Given the description of an element on the screen output the (x, y) to click on. 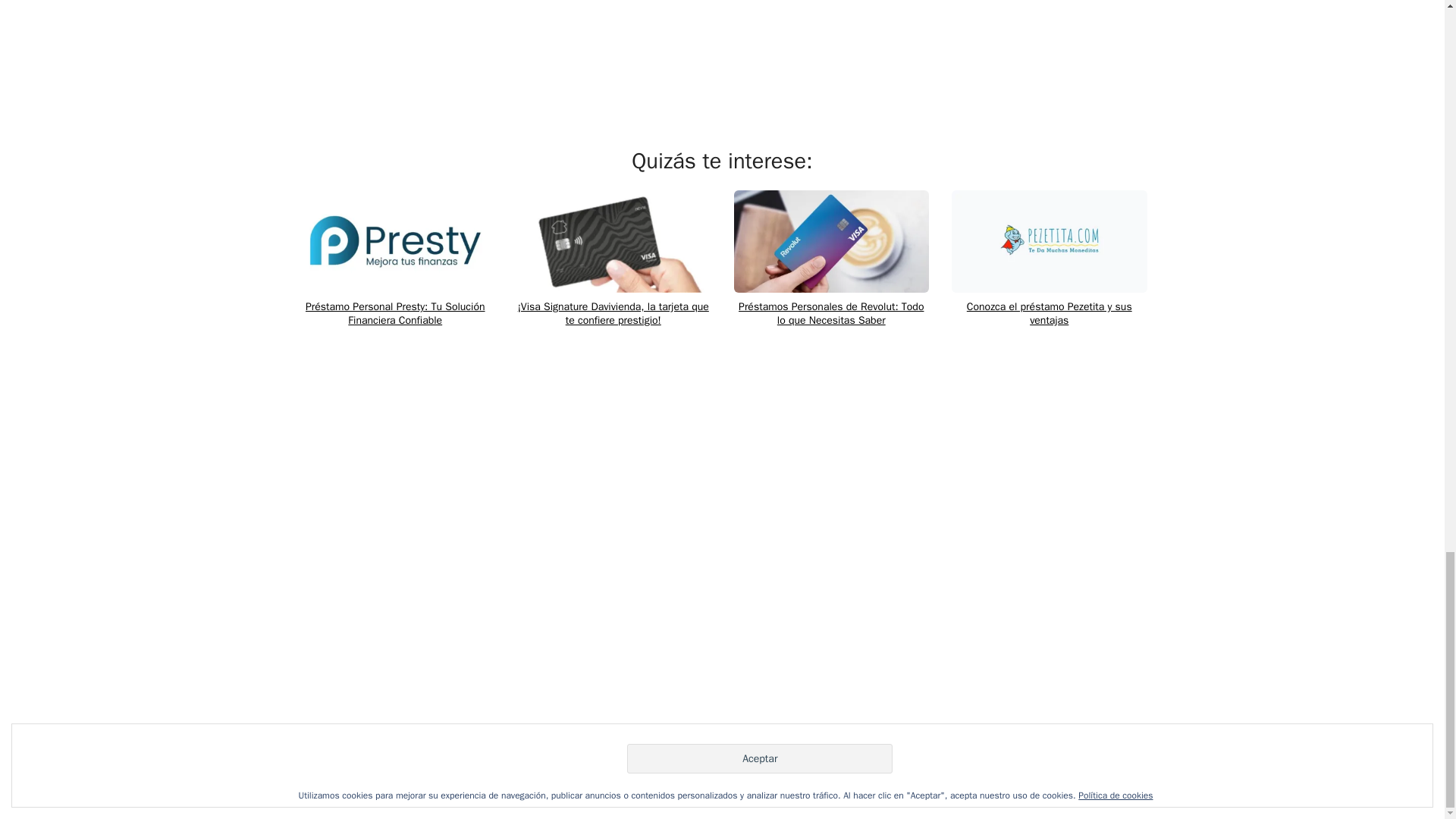
DESCARGO (906, 770)
COOKIES (755, 770)
CONTACTO (977, 770)
